Given the description of an element on the screen output the (x, y) to click on. 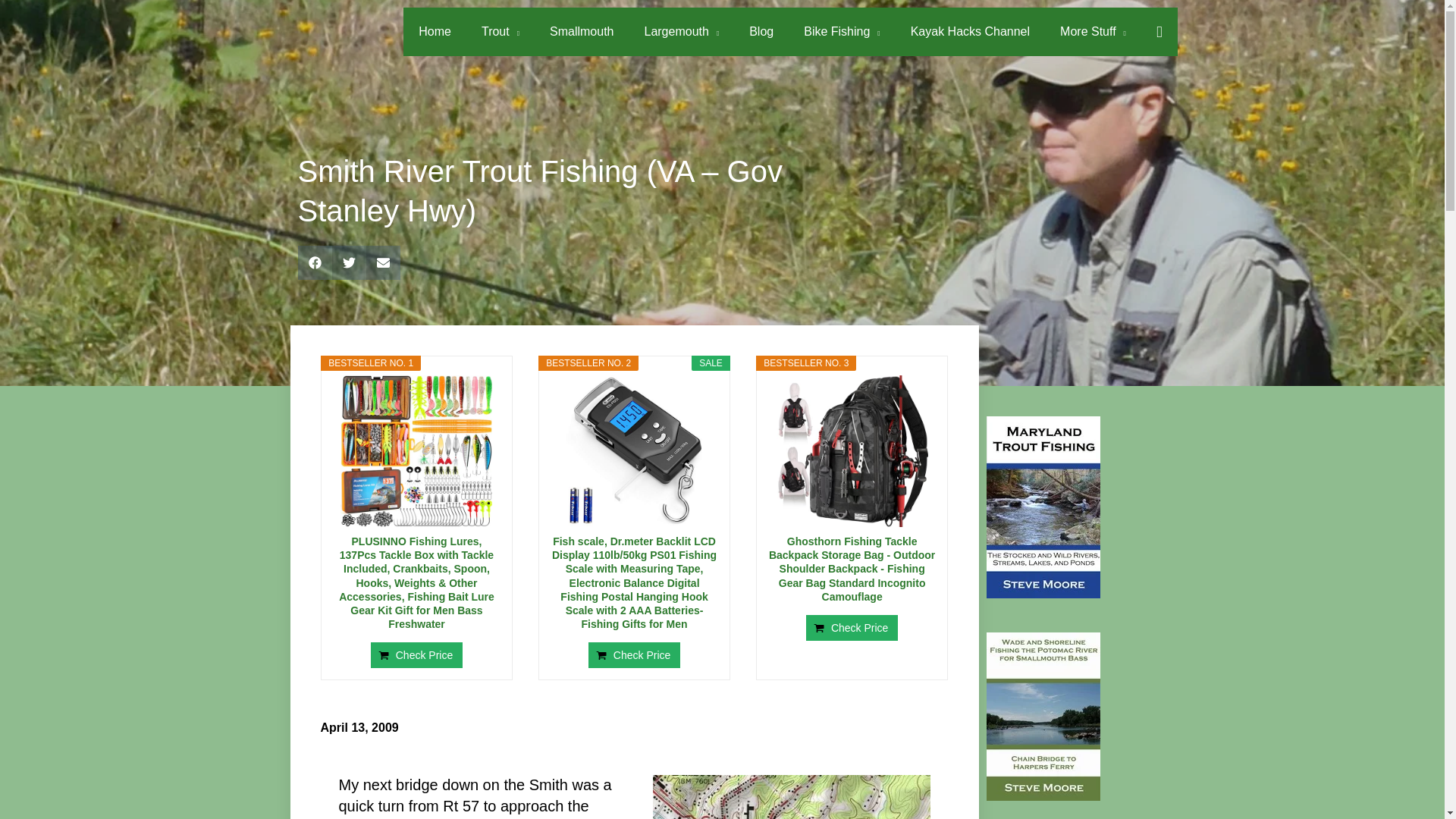
Kayak Hacks Channel (970, 31)
Check Price (633, 655)
Check Price (852, 627)
Blog (761, 31)
Home (434, 31)
Trout (499, 31)
Bike Fishing (842, 31)
Smallmouth (581, 31)
Check Price (417, 655)
More Stuff (1093, 31)
Check Price (417, 655)
Check Price (852, 627)
